Given the description of an element on the screen output the (x, y) to click on. 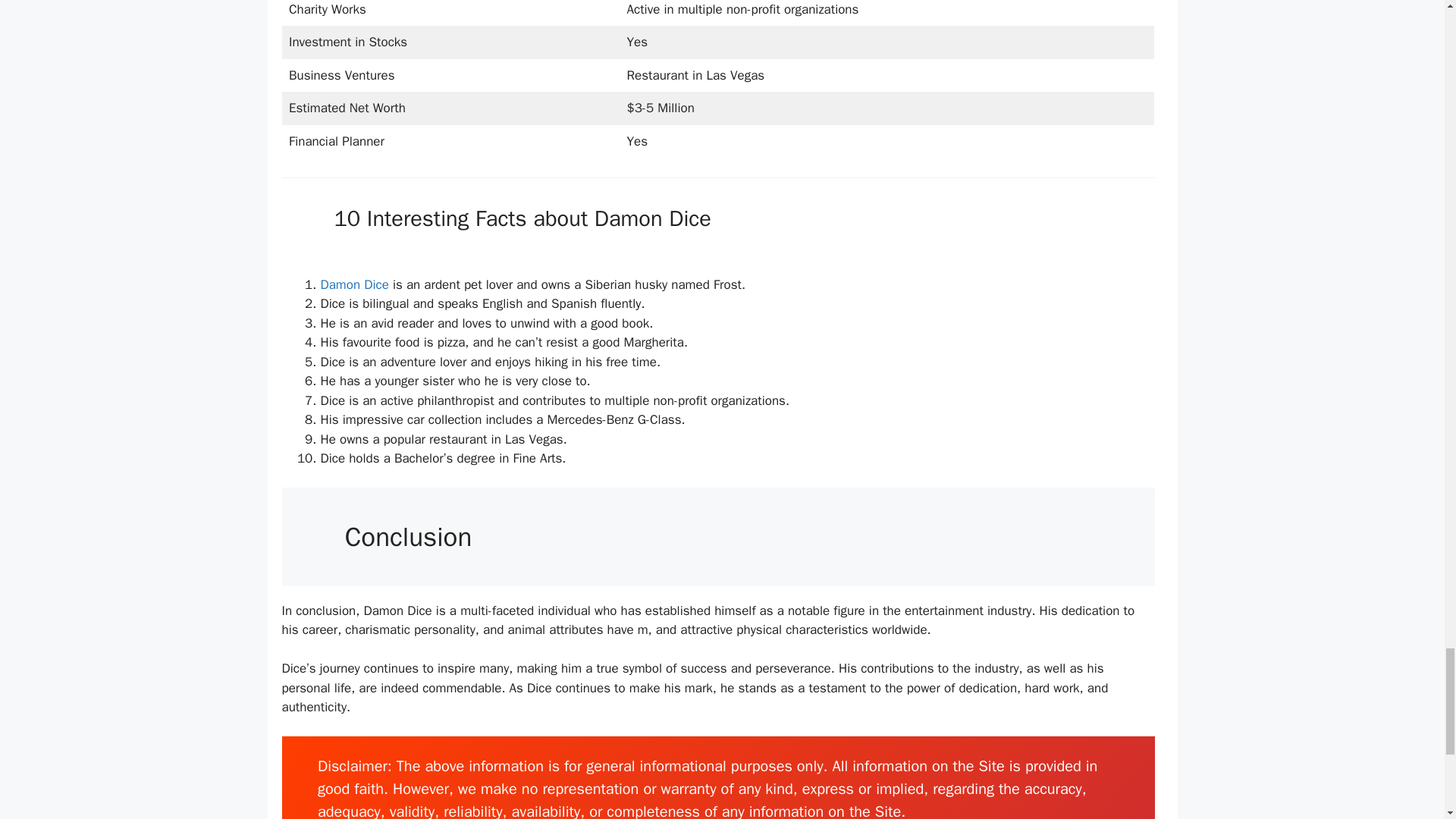
Damon Dice (355, 284)
